Given the description of an element on the screen output the (x, y) to click on. 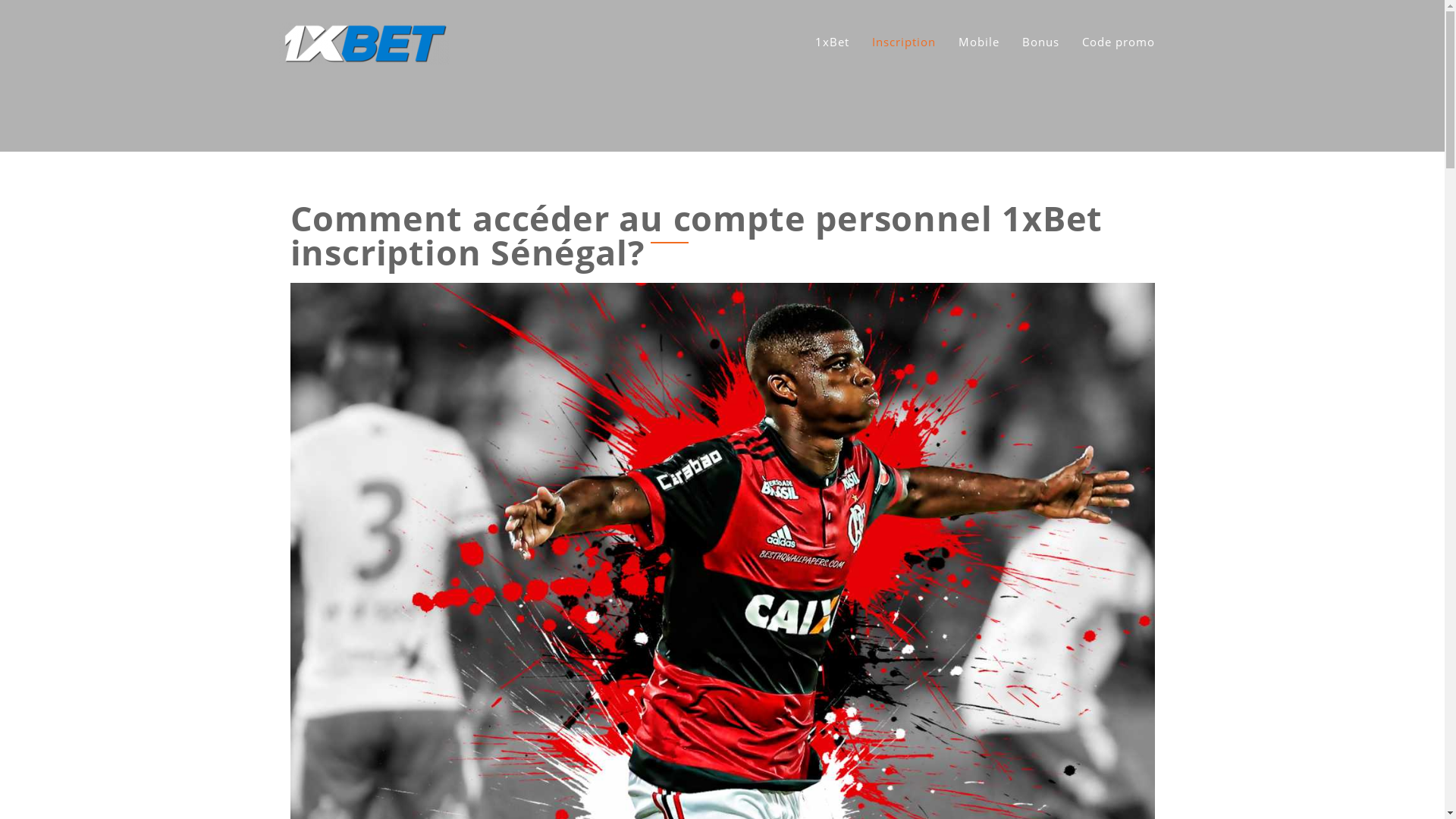
Mobile Element type: text (978, 41)
Code promo Element type: text (1117, 41)
1xBet Element type: text (831, 41)
Bonus Element type: text (1040, 41)
Inscription Element type: text (903, 41)
